Given the description of an element on the screen output the (x, y) to click on. 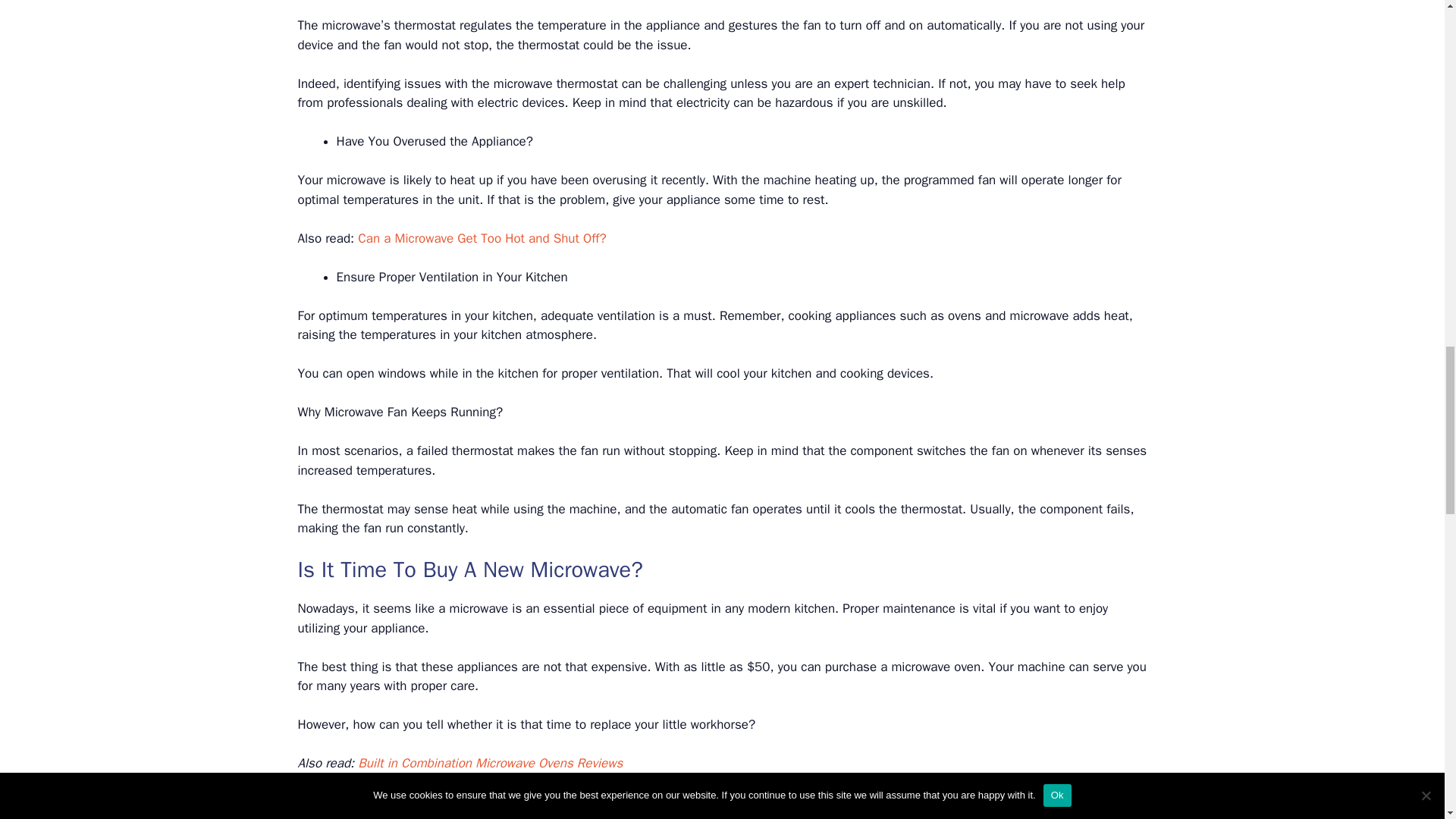
Built in Combination Microwave Ovens Reviews (490, 763)
Can a Microwave Get Too Hot and Shut Off? (481, 238)
